Given the description of an element on the screen output the (x, y) to click on. 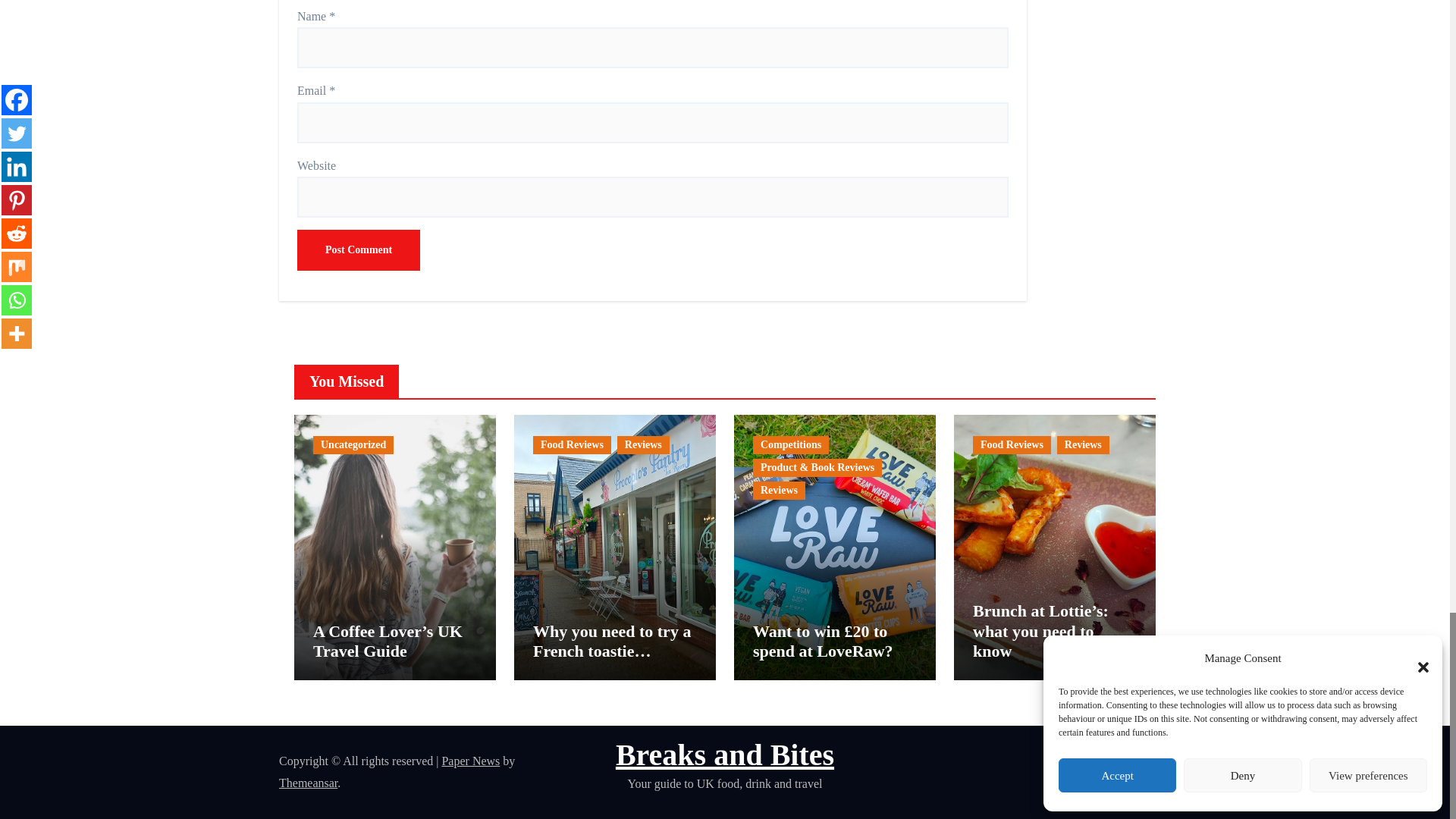
Post Comment (358, 250)
